Given the description of an element on the screen output the (x, y) to click on. 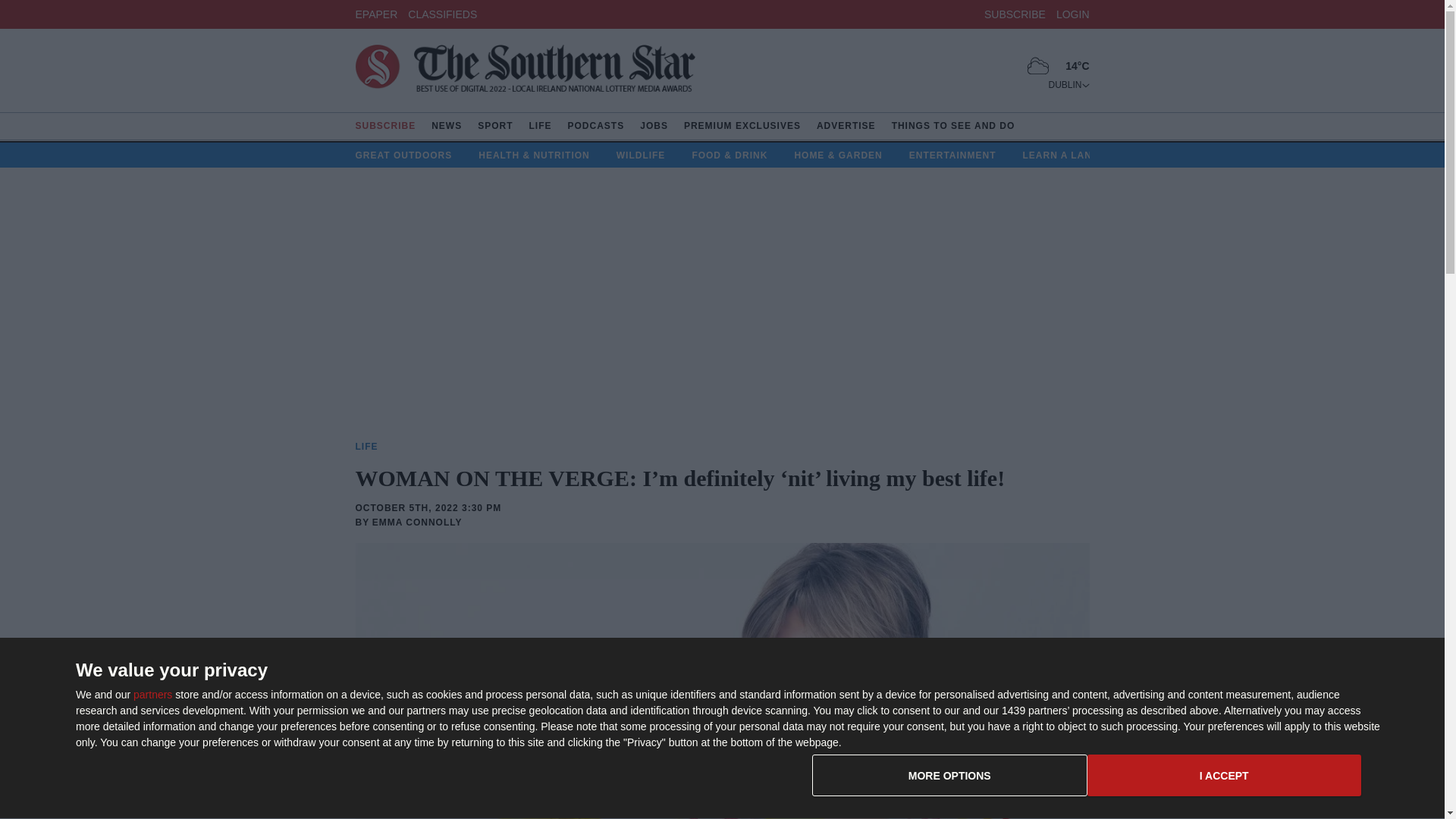
I ACCEPT (1224, 775)
LOGIN (1086, 781)
EPAPER (1073, 13)
CLASSIFIEDS (376, 13)
SUBSCRIBE (442, 13)
partners (1014, 13)
Southern Star Ltd. logo (152, 694)
DUBLIN (524, 70)
MORE OPTIONS (1068, 84)
